Given the description of an element on the screen output the (x, y) to click on. 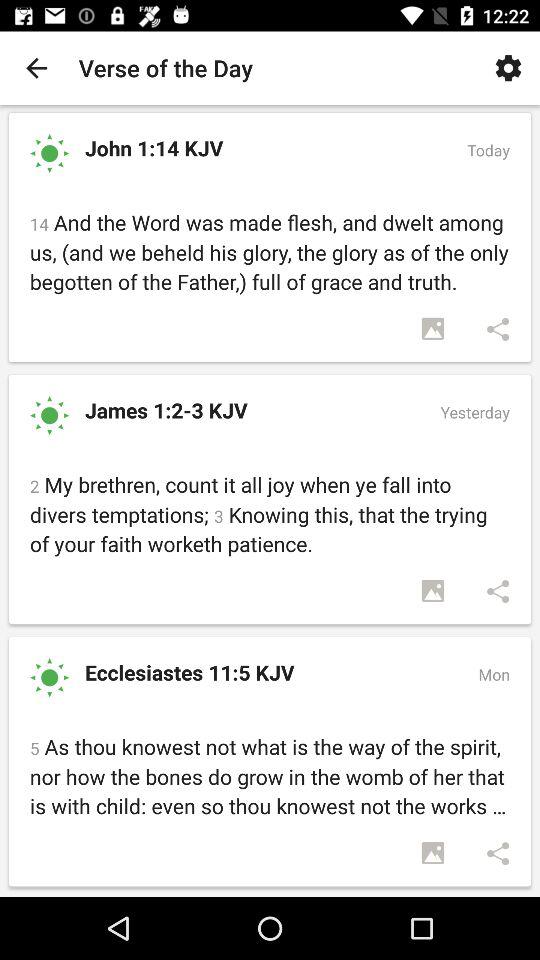
open icon to the left of the verse of the icon (36, 68)
